Given the description of an element on the screen output the (x, y) to click on. 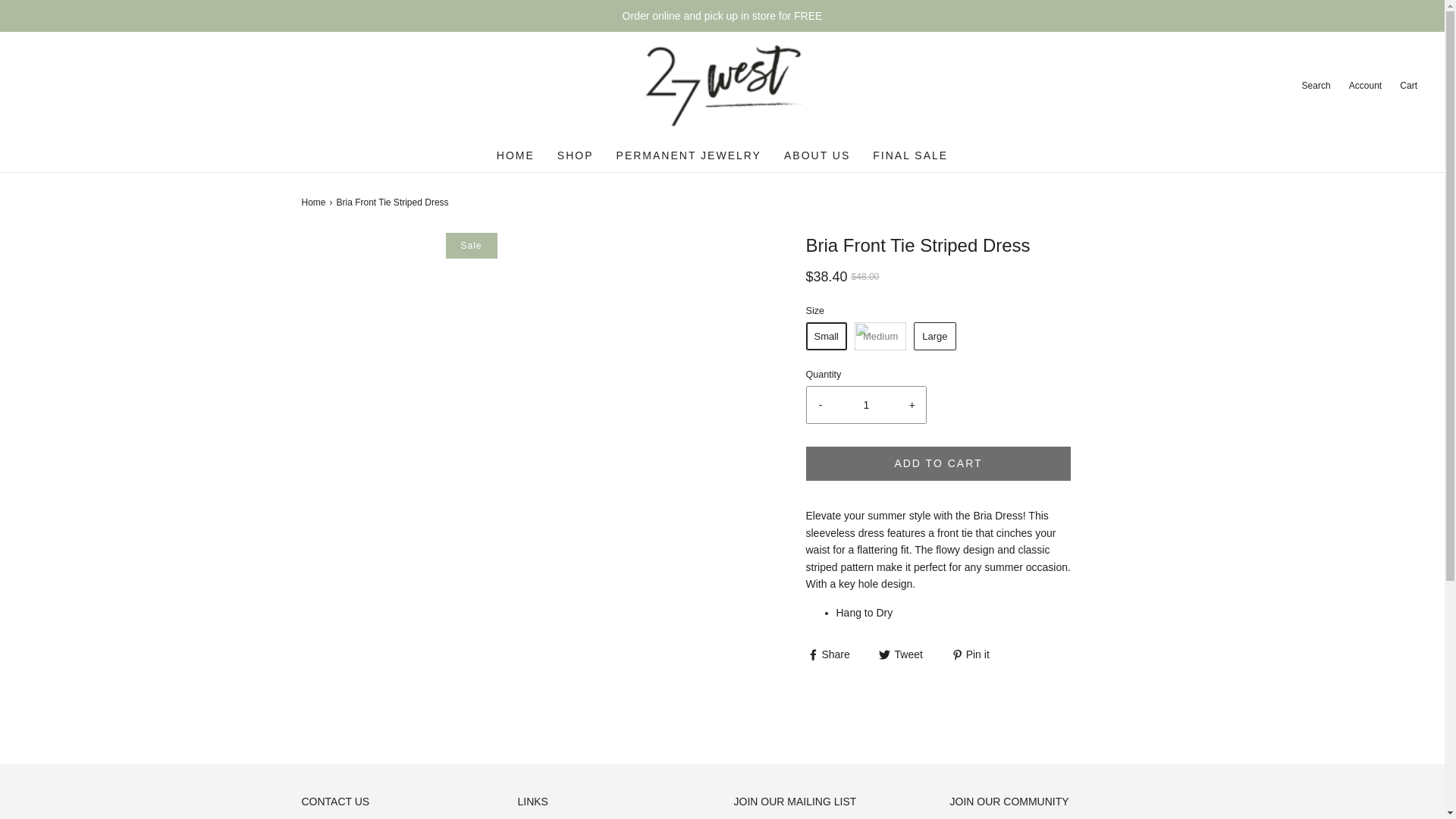
Cart (1407, 85)
Search (1314, 85)
HOME (515, 155)
1 (866, 404)
Search (1314, 85)
Account (1363, 85)
SHOP (575, 155)
Back to the frontpage (315, 202)
Log in (1363, 85)
Cart (1407, 85)
